Given the description of an element on the screen output the (x, y) to click on. 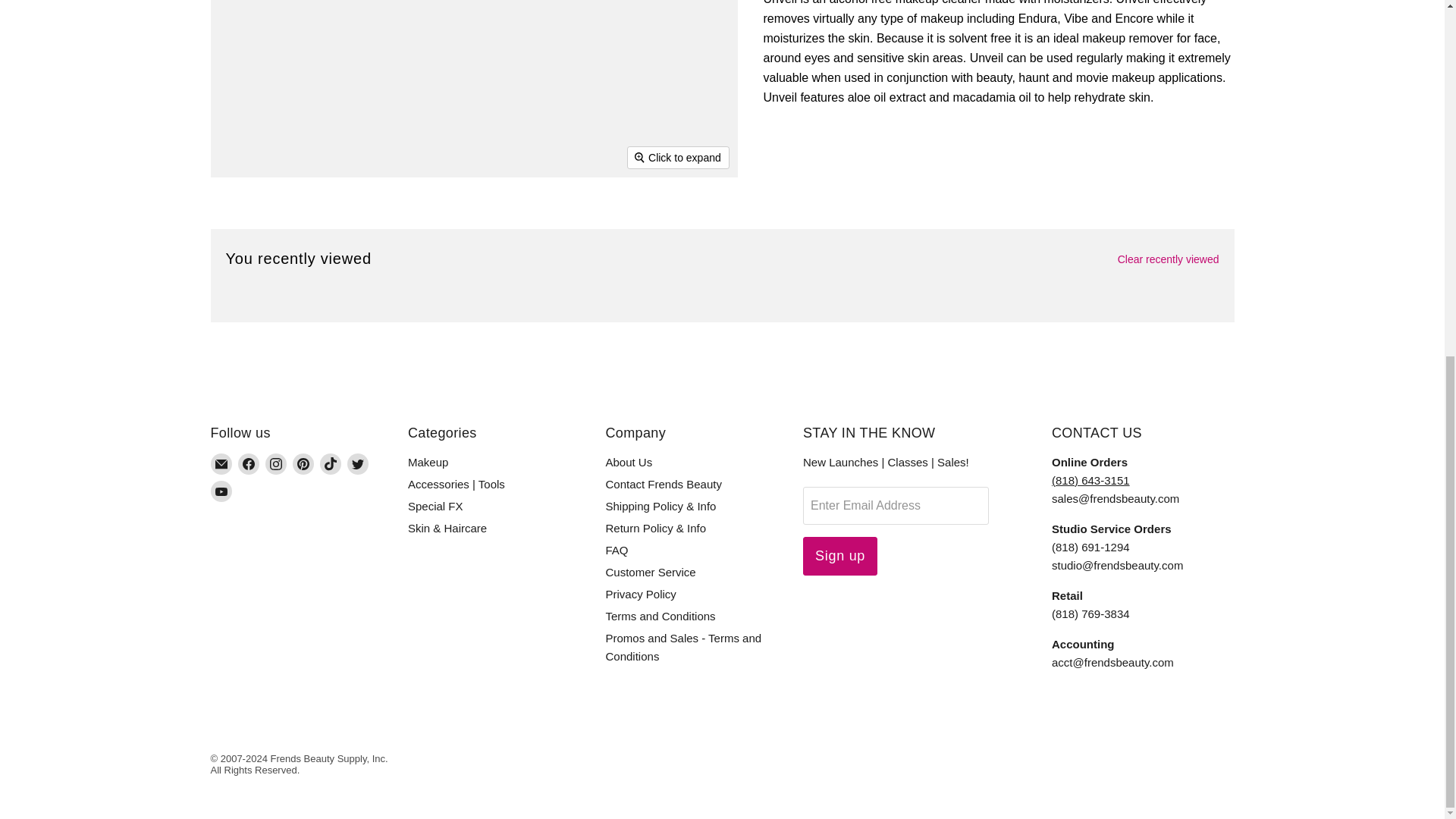
Instagram (275, 464)
TikTok (330, 464)
Facebook (248, 464)
Email (221, 464)
Pinterest (303, 464)
